Given the description of an element on the screen output the (x, y) to click on. 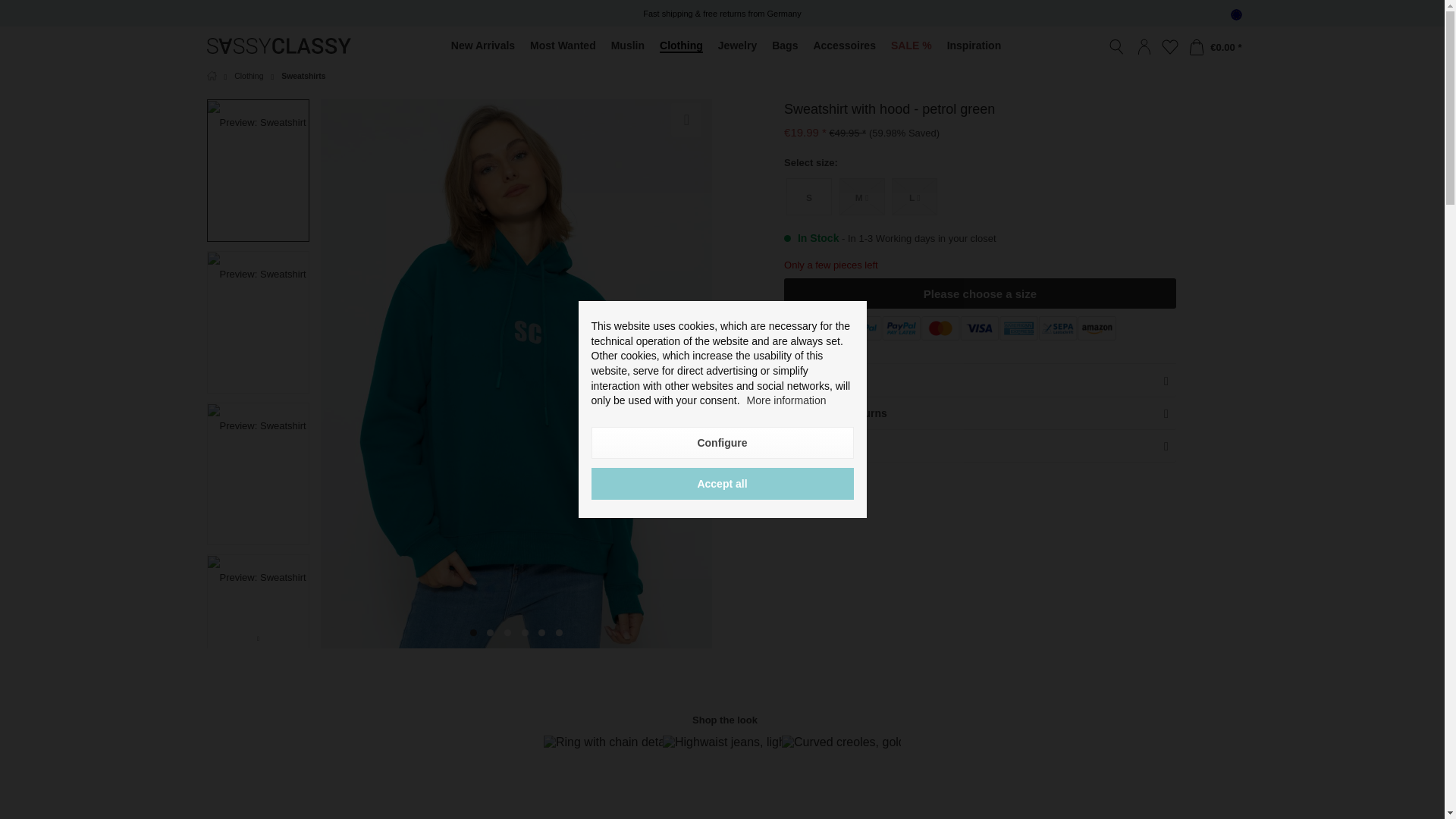
SASSYCLASSY - Switch to homepage (278, 45)
Jewelry (737, 44)
Muslin (628, 44)
Clothing (681, 44)
New Arrivals (483, 44)
Most Wanted (563, 44)
Muslin  (628, 44)
Jewelry (737, 44)
Inspiration (974, 44)
Bags (784, 44)
